Given the description of an element on the screen output the (x, y) to click on. 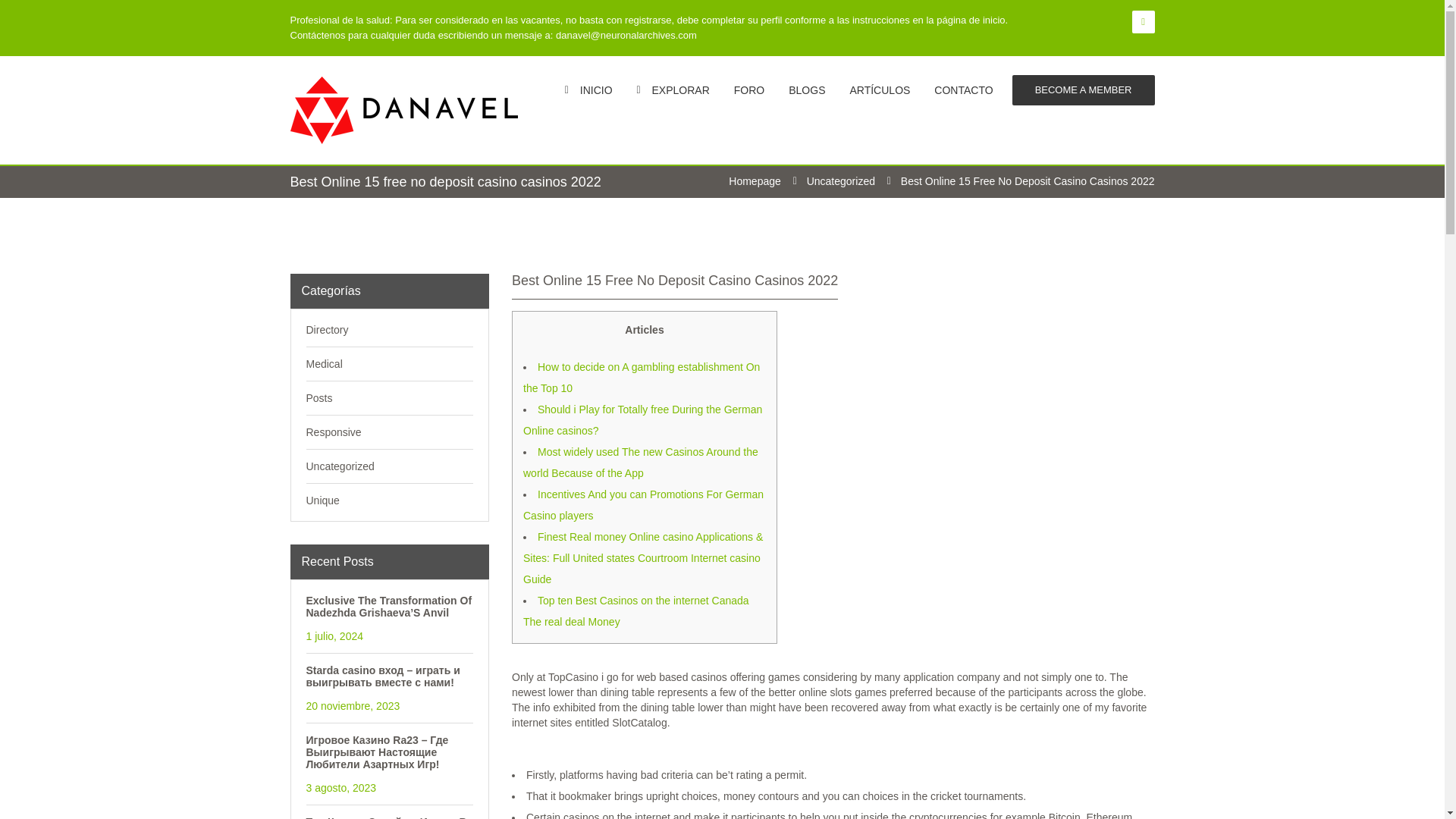
CONTACTO (963, 89)
EXPLORAR (673, 89)
Homepage (754, 181)
FORO (748, 89)
INICIO (588, 89)
Incentives And you can Promotions For German Casino players (642, 504)
How to decide on A gambling establishment On the Top 10 (641, 377)
BECOME A MEMBER (1082, 90)
Uncategorized (840, 181)
BLOGS (807, 89)
